Given the description of an element on the screen output the (x, y) to click on. 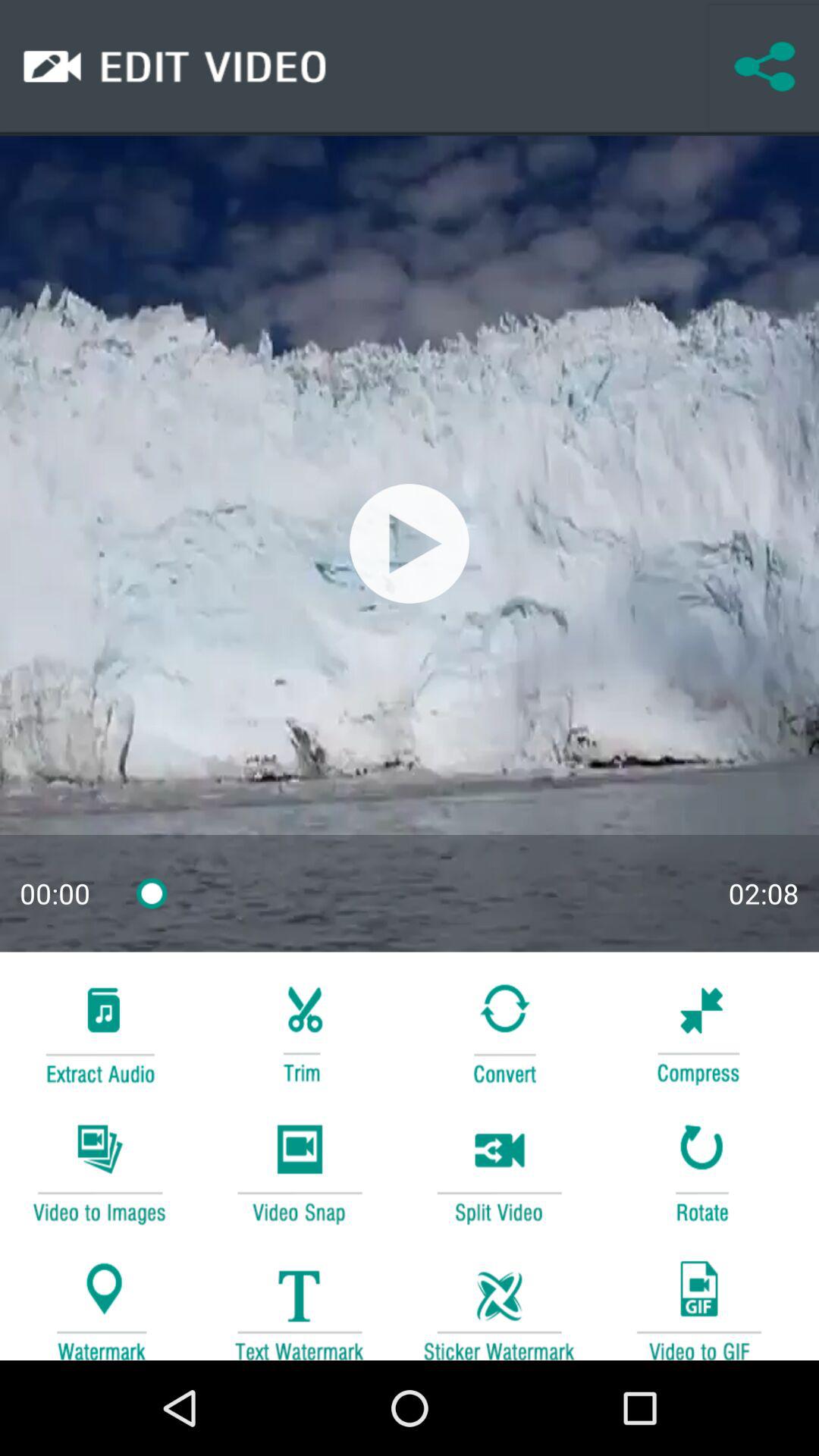
vedio rotate (698, 1171)
